Given the description of an element on the screen output the (x, y) to click on. 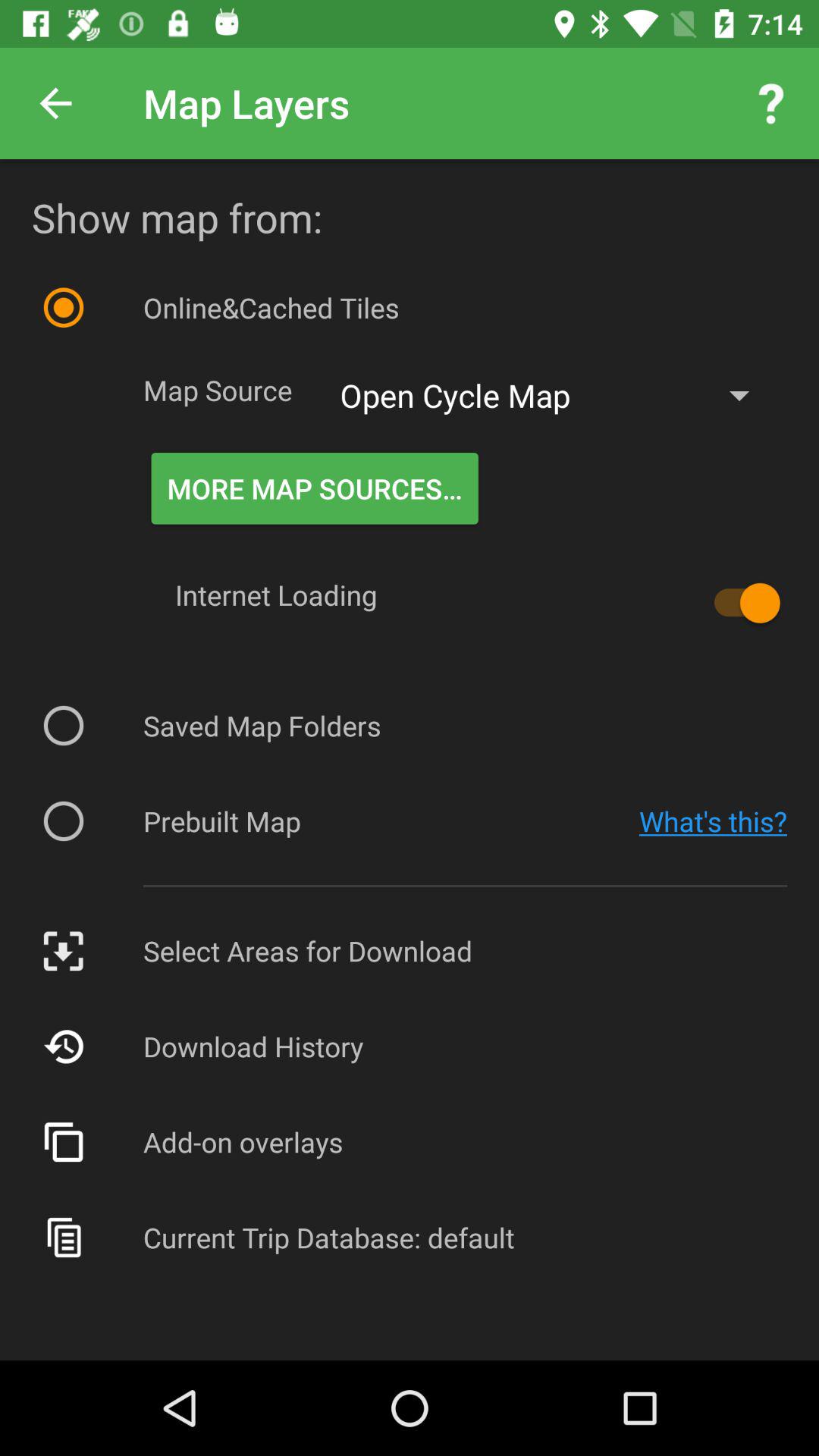
tap item above show map from: (771, 103)
